Given the description of an element on the screen output the (x, y) to click on. 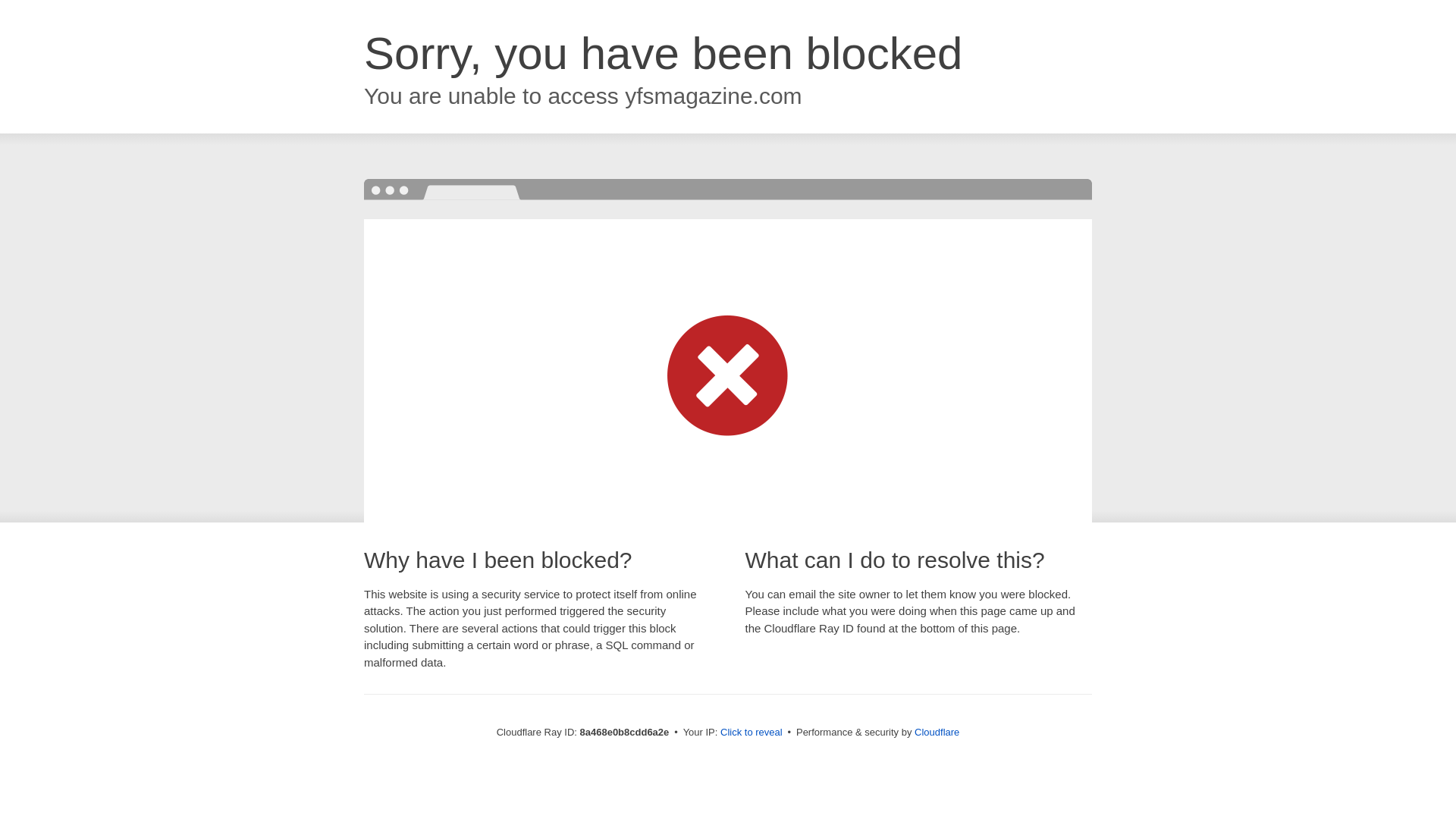
Cloudflare (936, 731)
Click to reveal (751, 732)
